Given the description of an element on the screen output the (x, y) to click on. 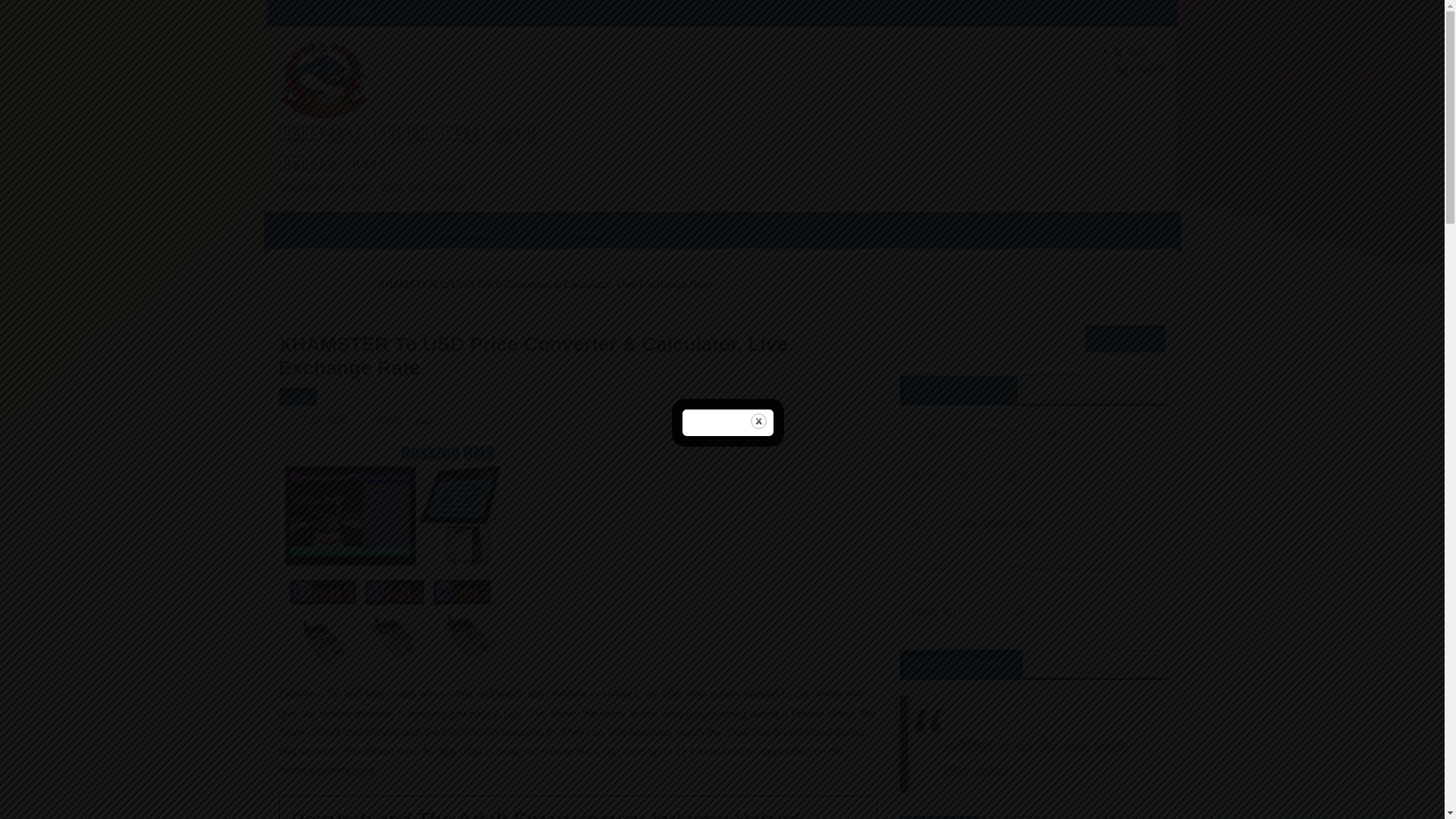
VSDTC Kailali (400, 419)
Close (759, 421)
English (1140, 69)
Home (303, 284)
